Given the description of an element on the screen output the (x, y) to click on. 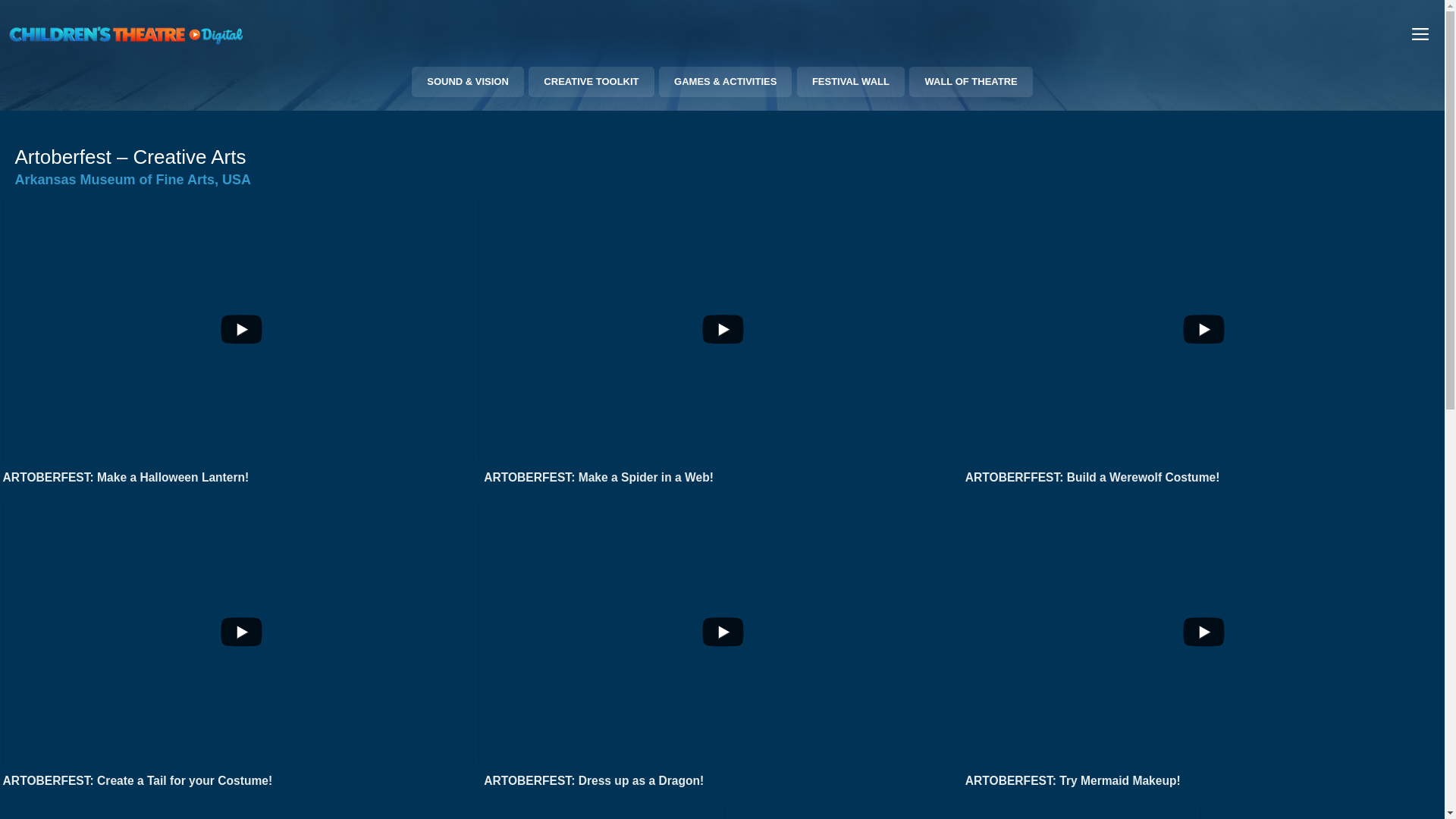
FESTIVAL WALL (850, 81)
WALL OF THEATRE (970, 81)
Arkansas Museum of Fine Arts, USA (132, 179)
CREATIVE TOOLKIT (590, 81)
